Given the description of an element on the screen output the (x, y) to click on. 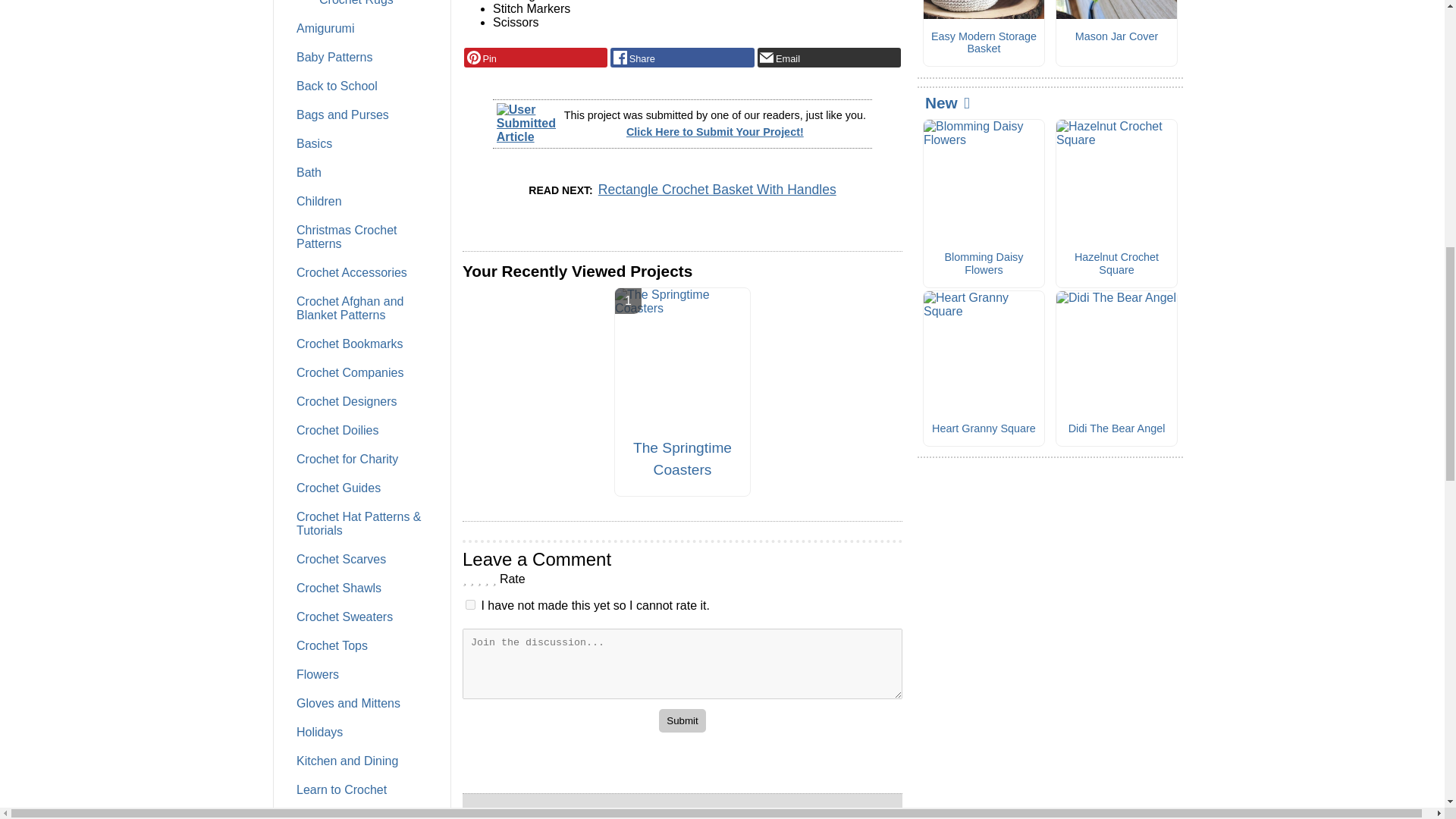
Facebook (682, 57)
1 (470, 604)
Submit (681, 720)
Email (829, 57)
